Given the description of an element on the screen output the (x, y) to click on. 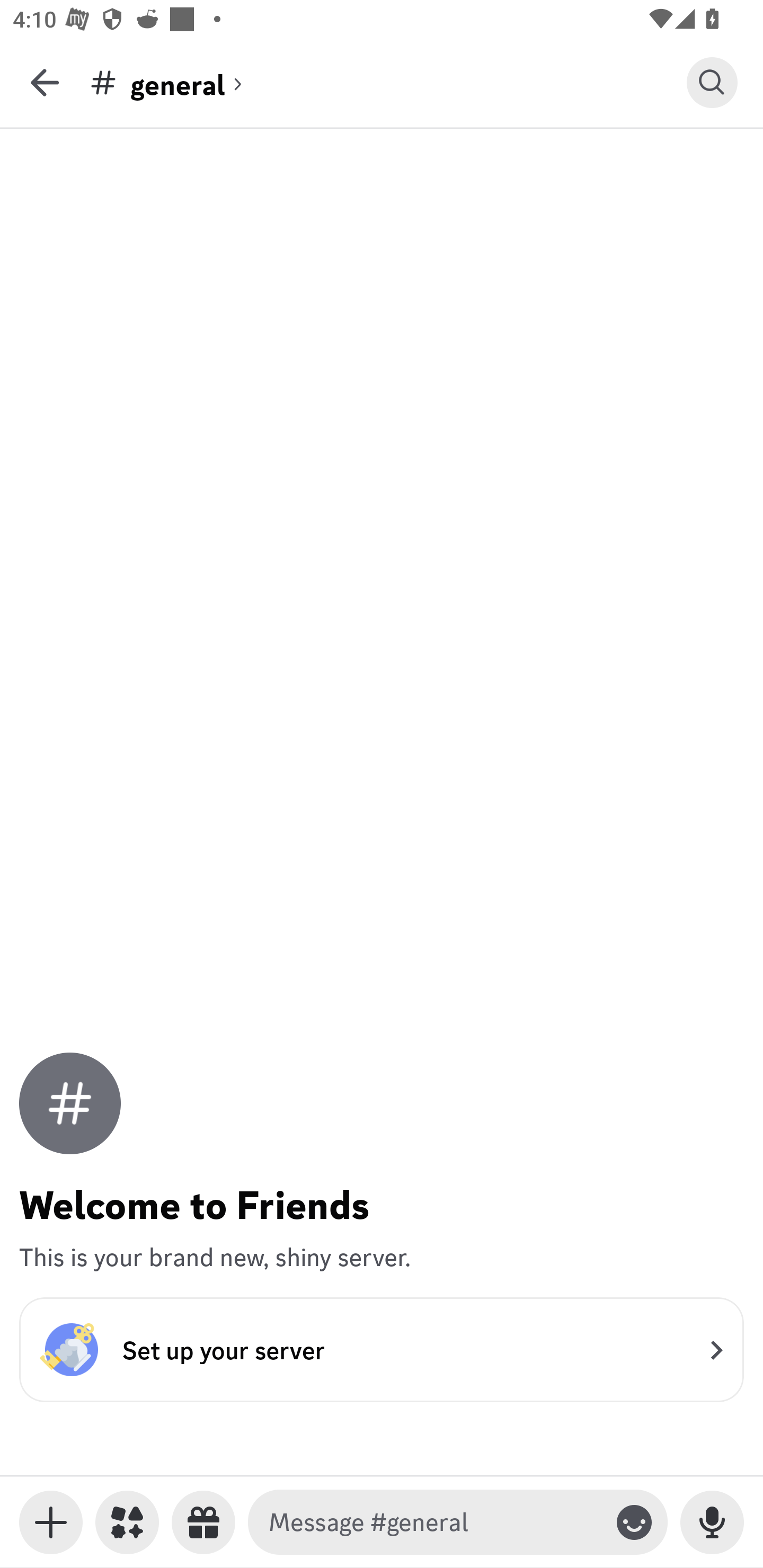
general (channel) general general (channel) (387, 82)
Back (44, 82)
Search (711, 82)
Set up your server (381, 1348)
Message #general Toggle emoji keyboard (457, 1522)
Toggle media keyboard (50, 1522)
Apps (126, 1522)
Send a gift (203, 1522)
Record Voice Message (711, 1522)
Toggle emoji keyboard (634, 1522)
